Given the description of an element on the screen output the (x, y) to click on. 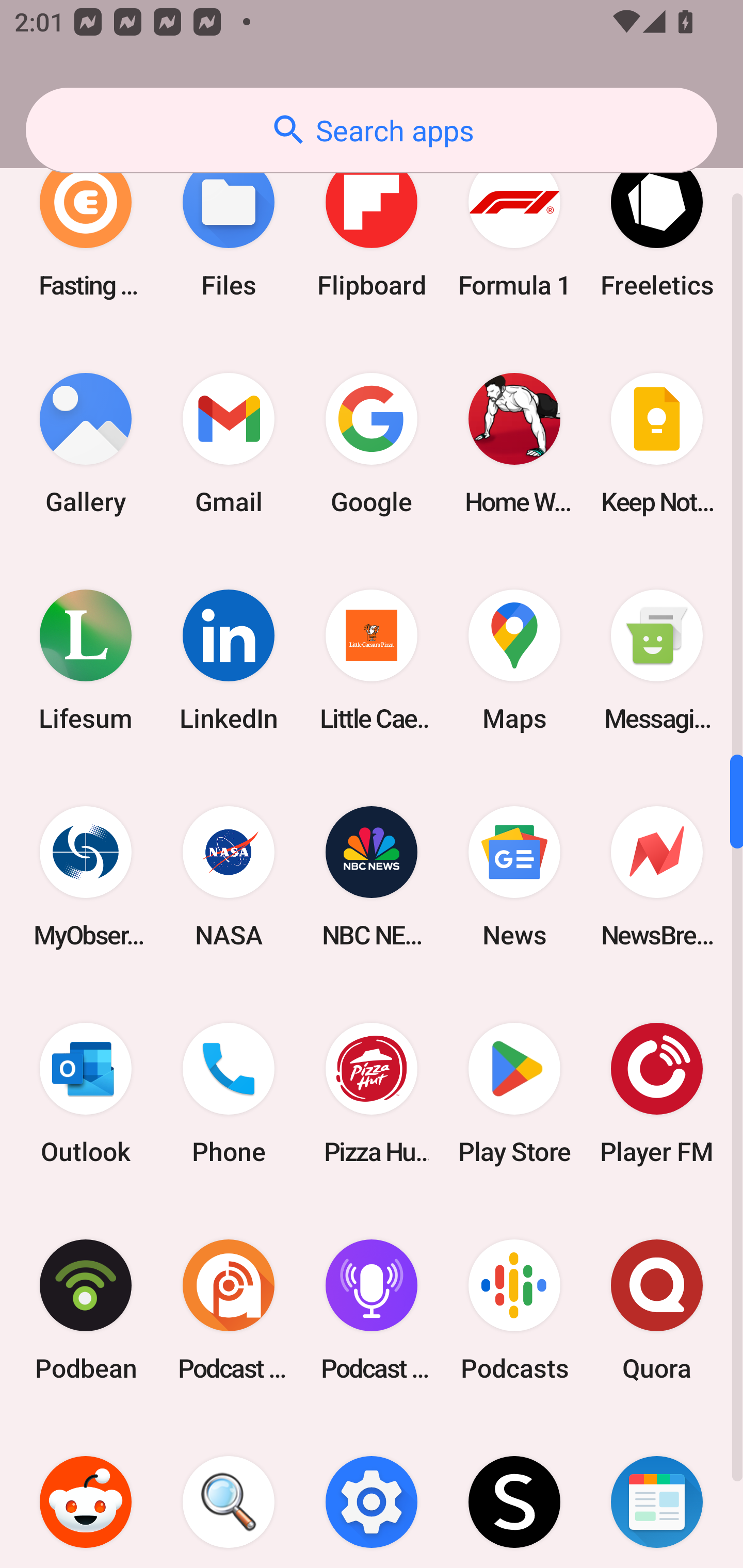
  Search apps (371, 130)
Fasting Coach (85, 227)
Files (228, 227)
Flipboard (371, 227)
Formula 1 (514, 227)
Freeletics (656, 227)
Gallery (85, 443)
Gmail (228, 443)
Google (371, 443)
Home Workout (514, 443)
Keep Notes (656, 443)
Lifesum (85, 659)
LinkedIn (228, 659)
Little Caesars Pizza (371, 659)
Maps (514, 659)
Messaging (656, 659)
MyObservatory (85, 876)
NASA (228, 876)
NBC NEWS (371, 876)
News (514, 876)
NewsBreak (656, 876)
Outlook (85, 1092)
Phone (228, 1092)
Pizza Hut HK & Macau (371, 1092)
Play Store (514, 1092)
Player FM (656, 1092)
Podbean (85, 1310)
Podcast Addict (228, 1310)
Podcast Player (371, 1310)
Podcasts (514, 1310)
Quora (656, 1310)
Reddit (85, 1493)
Search (228, 1493)
Settings (371, 1493)
SHEIN (514, 1493)
SmartNews (656, 1493)
